Given the description of an element on the screen output the (x, y) to click on. 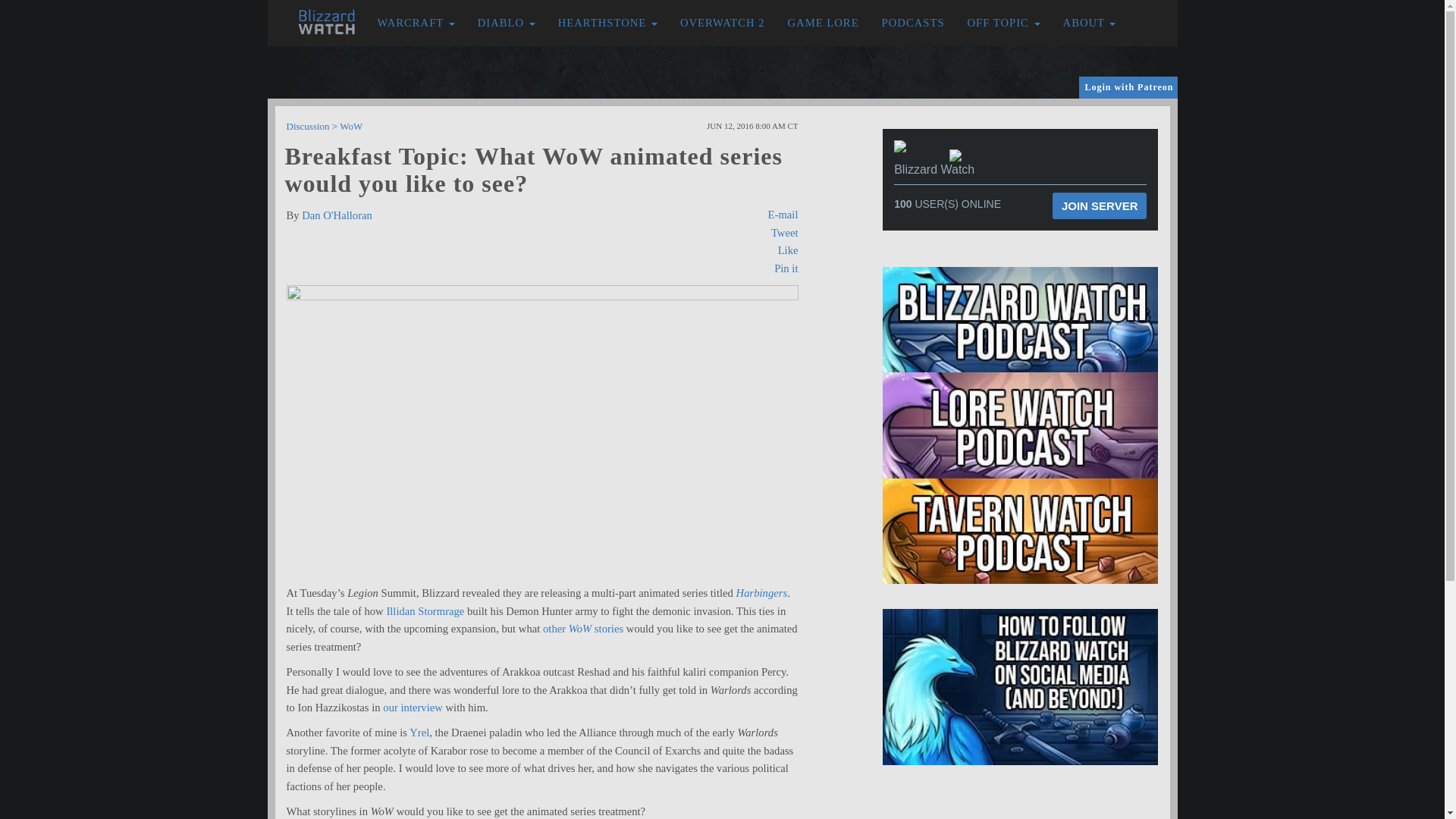
Overwatch 2 (722, 22)
ABOUT (1088, 22)
Login with Patreon (1128, 86)
Podcasts (913, 22)
GAME LORE (823, 22)
OFF TOPIC (1003, 22)
Discussion (308, 125)
DIABLO (506, 22)
Hearthstone (607, 22)
WoW (350, 125)
Dan O'Halloran (336, 215)
WARCRAFT (415, 22)
PODCASTS (913, 22)
Diablo (506, 22)
HEARTHSTONE (607, 22)
